Given the description of an element on the screen output the (x, y) to click on. 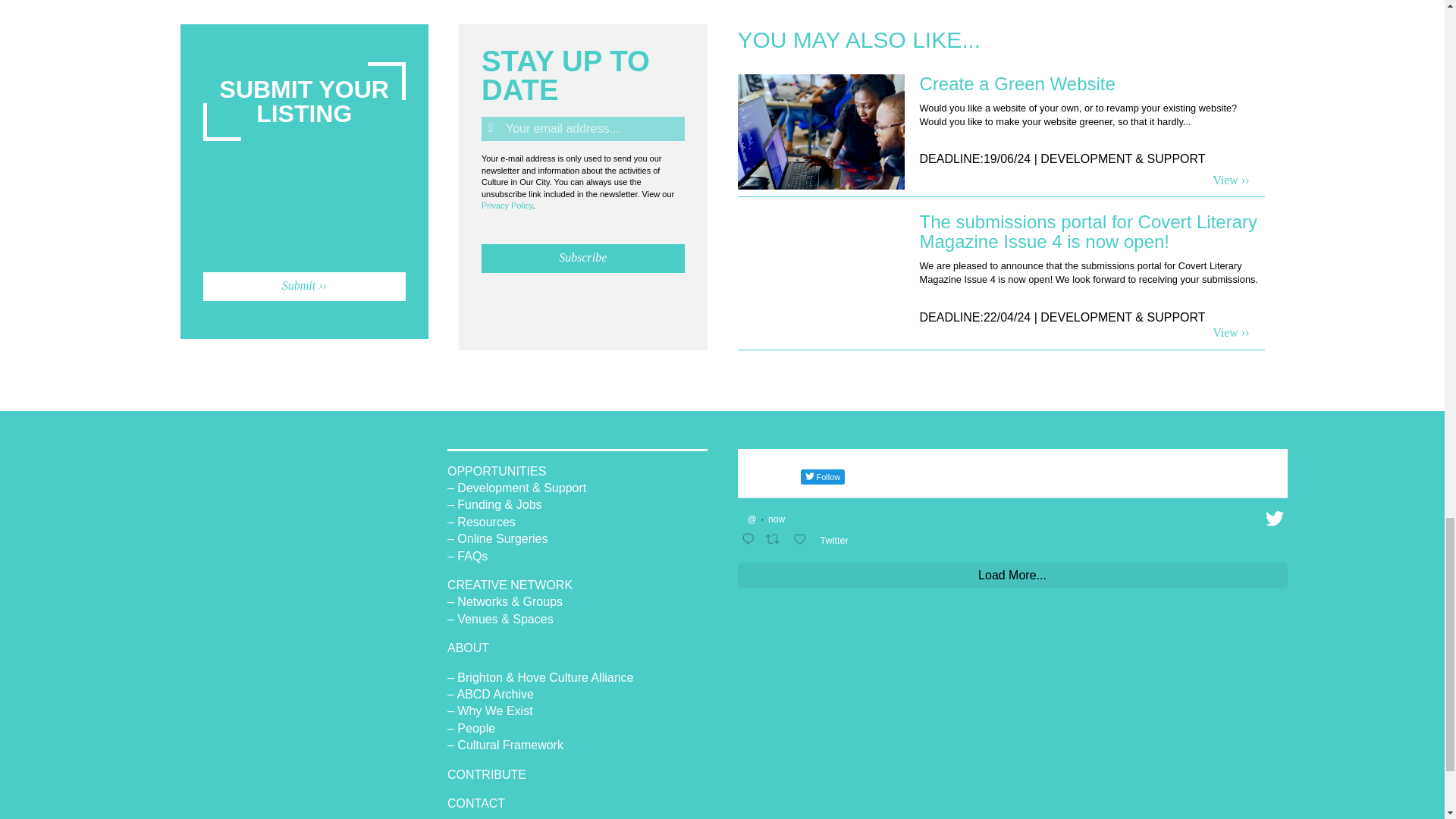
Subscribe (582, 258)
